Given the description of an element on the screen output the (x, y) to click on. 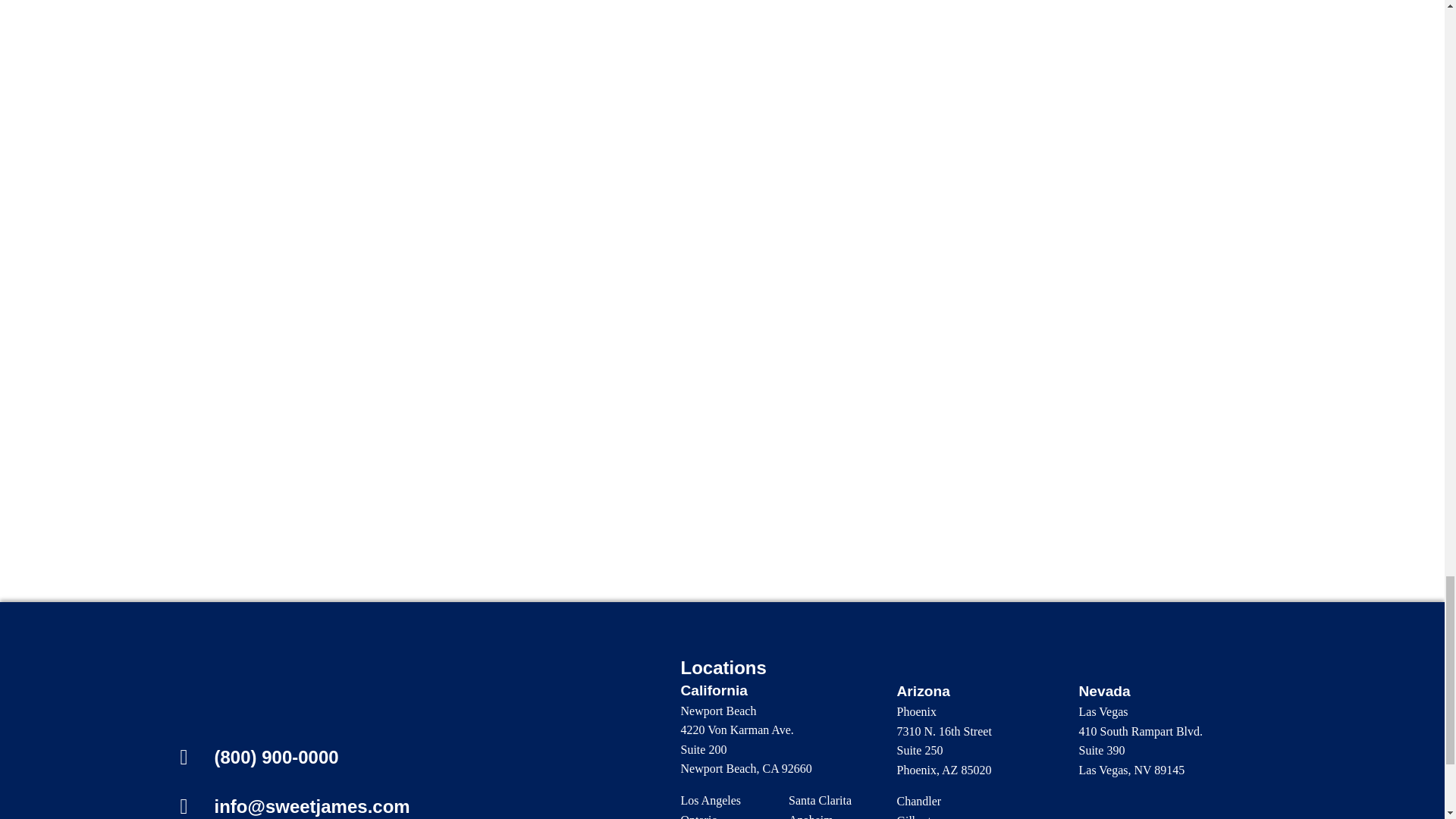
Los Angeles (711, 799)
Phoenix (916, 711)
Las Vegas (1102, 711)
Newport Beach (719, 710)
